Given the description of an element on the screen output the (x, y) to click on. 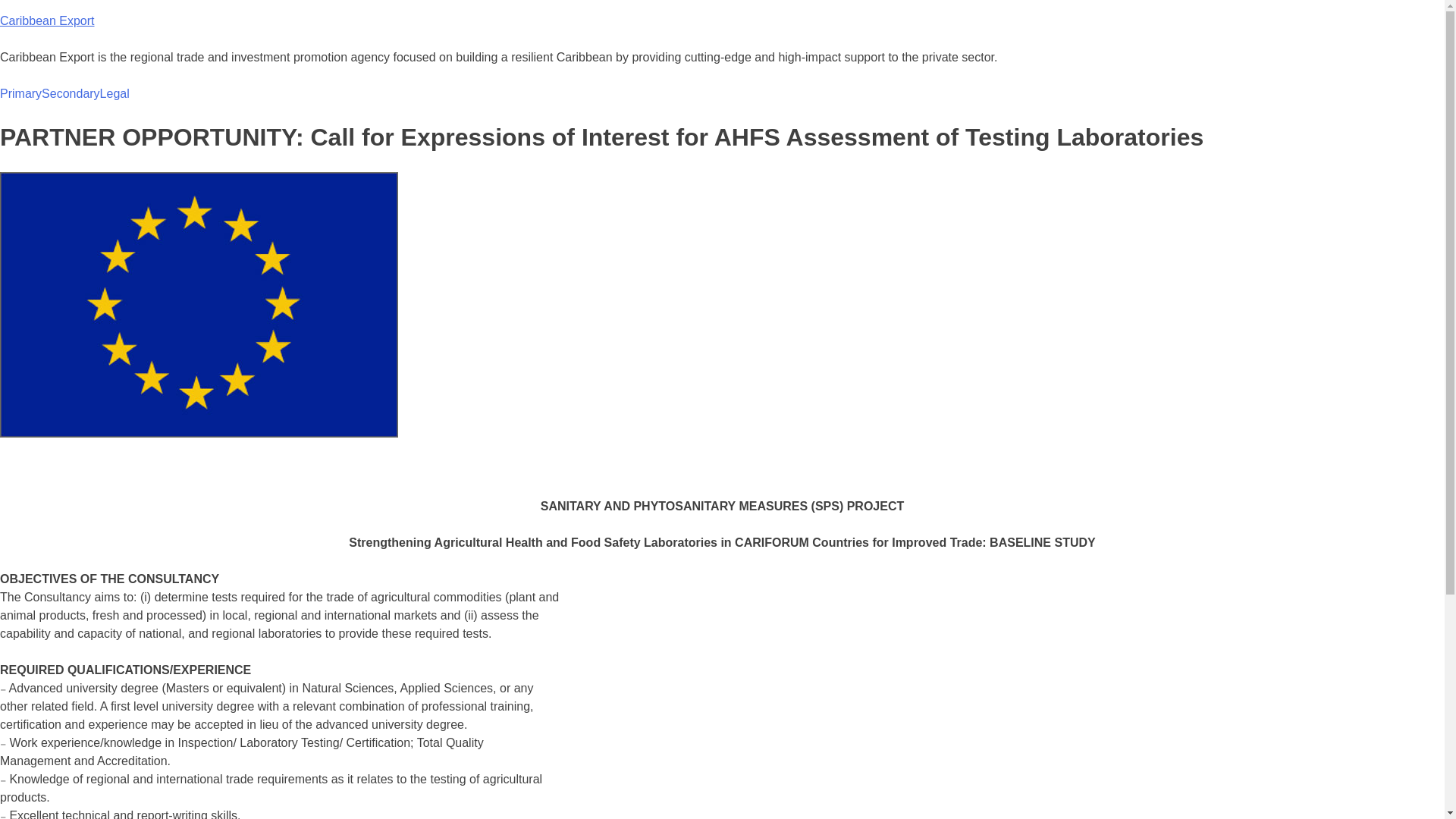
Legal (114, 94)
Primary (21, 94)
Caribbean Export (47, 20)
Secondary (71, 94)
